Given the description of an element on the screen output the (x, y) to click on. 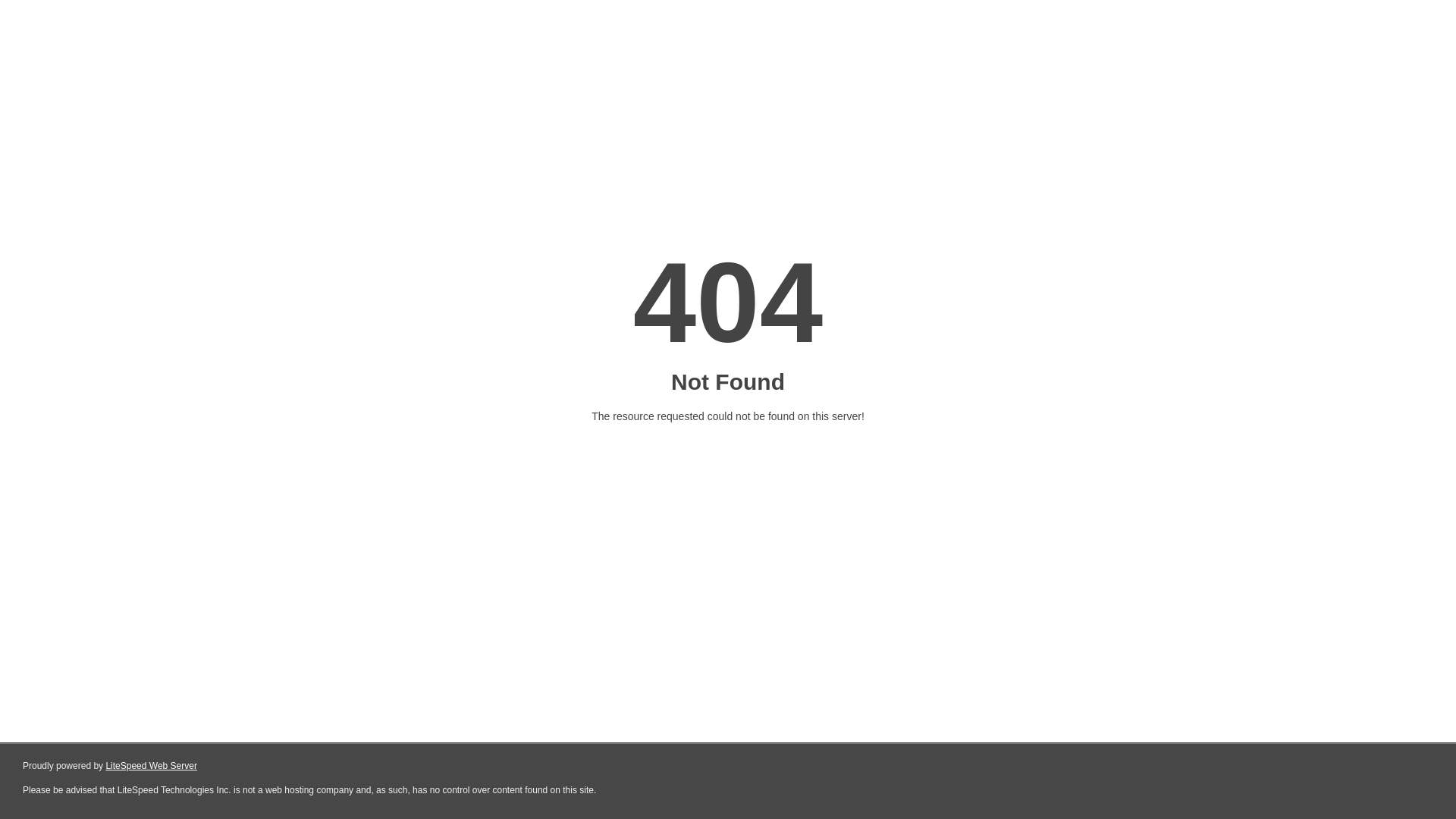
LiteSpeed Web Server Element type: text (151, 765)
